Given the description of an element on the screen output the (x, y) to click on. 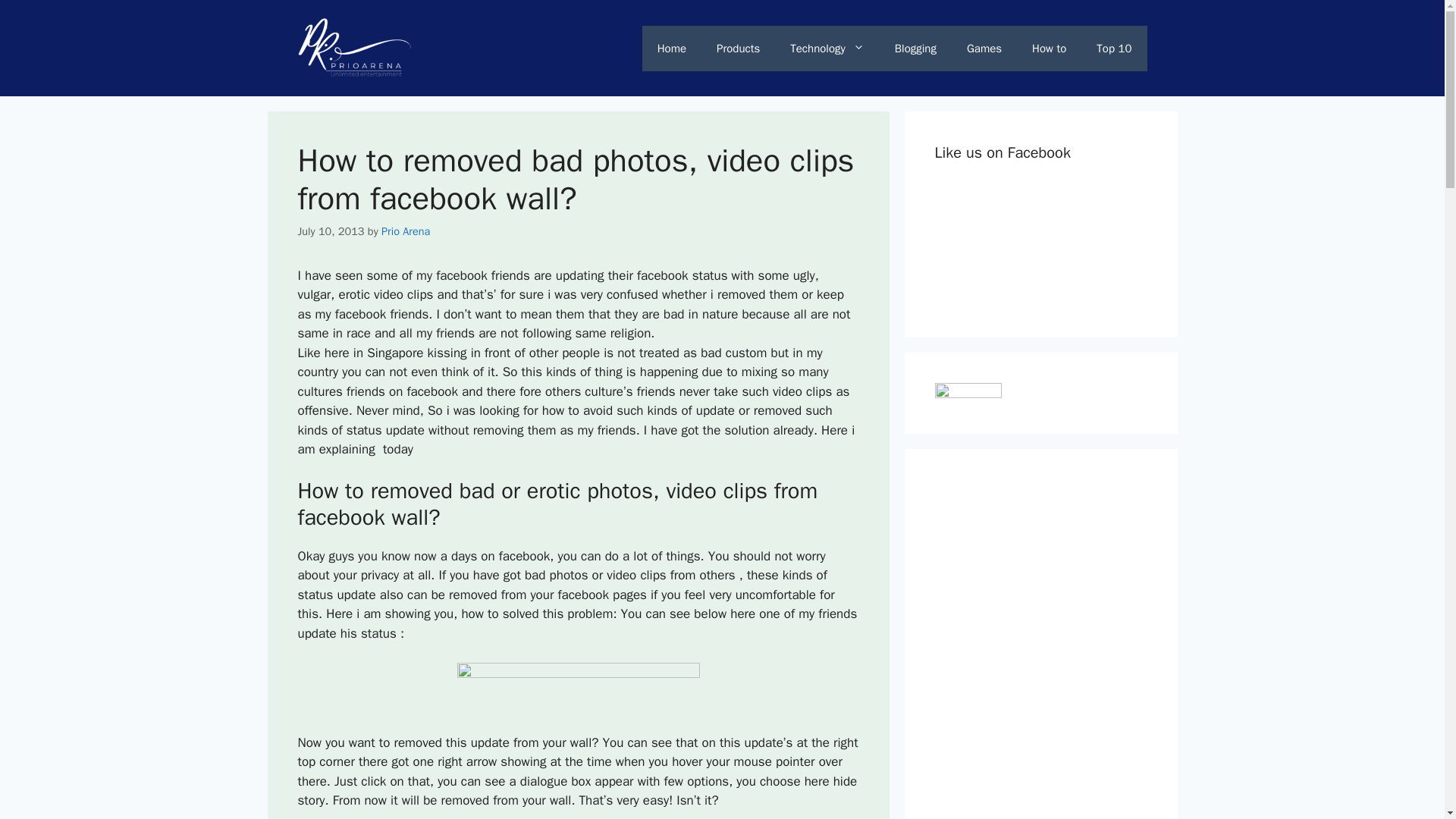
Home (671, 48)
Top 10 (1114, 48)
Technology (826, 48)
Products (737, 48)
How to (1048, 48)
Games (984, 48)
View all posts by Prio Arena (405, 231)
Prio Arena (405, 231)
Blogging (915, 48)
